Given the description of an element on the screen output the (x, y) to click on. 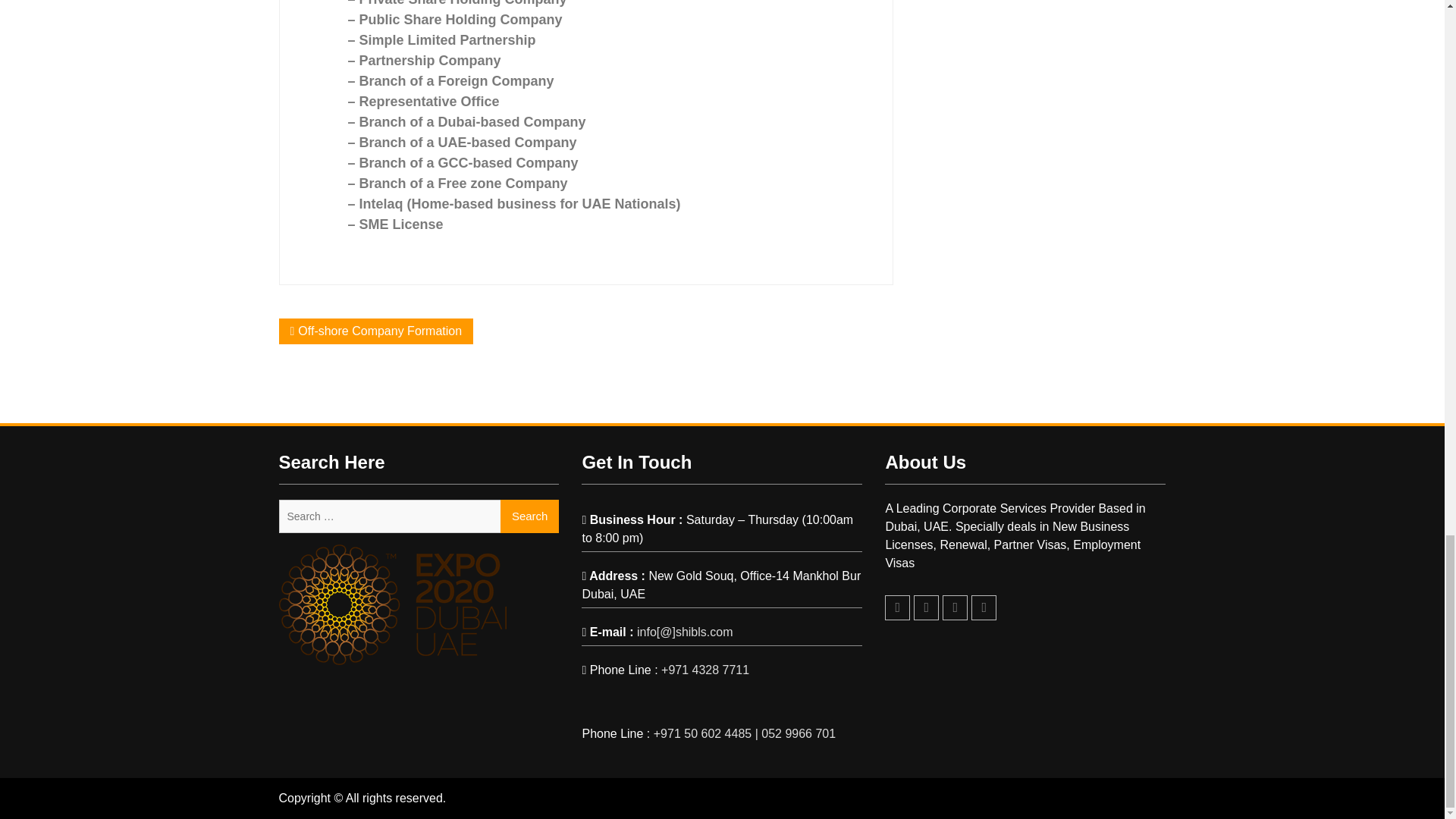
Off-shore Company Formation (379, 330)
Search (529, 516)
Search (529, 516)
Search (529, 516)
